Given the description of an element on the screen output the (x, y) to click on. 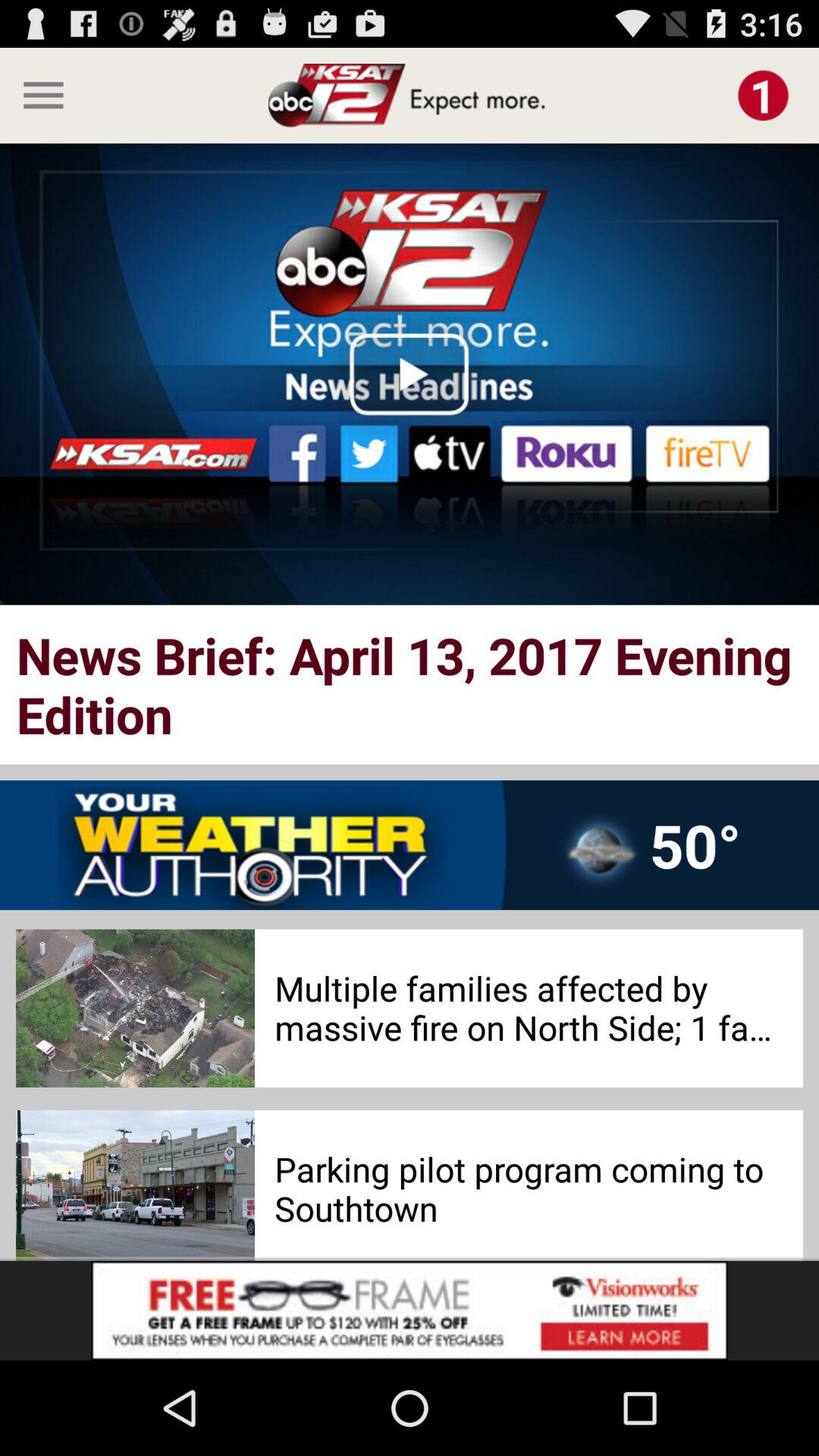
advertisement (409, 1310)
